Given the description of an element on the screen output the (x, y) to click on. 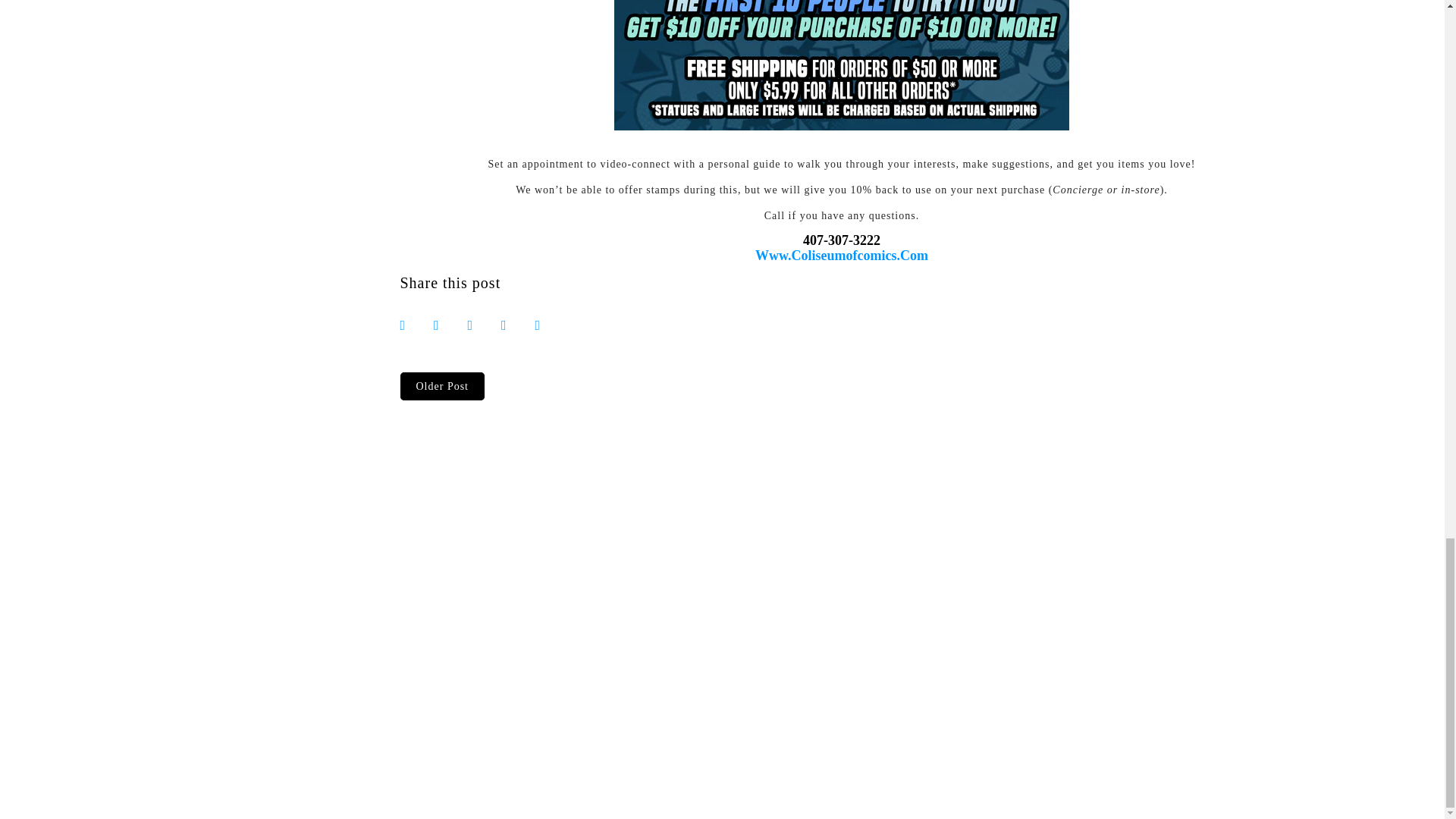
Link to Coliseum of Comics Concierge  (842, 65)
